Given the description of an element on the screen output the (x, y) to click on. 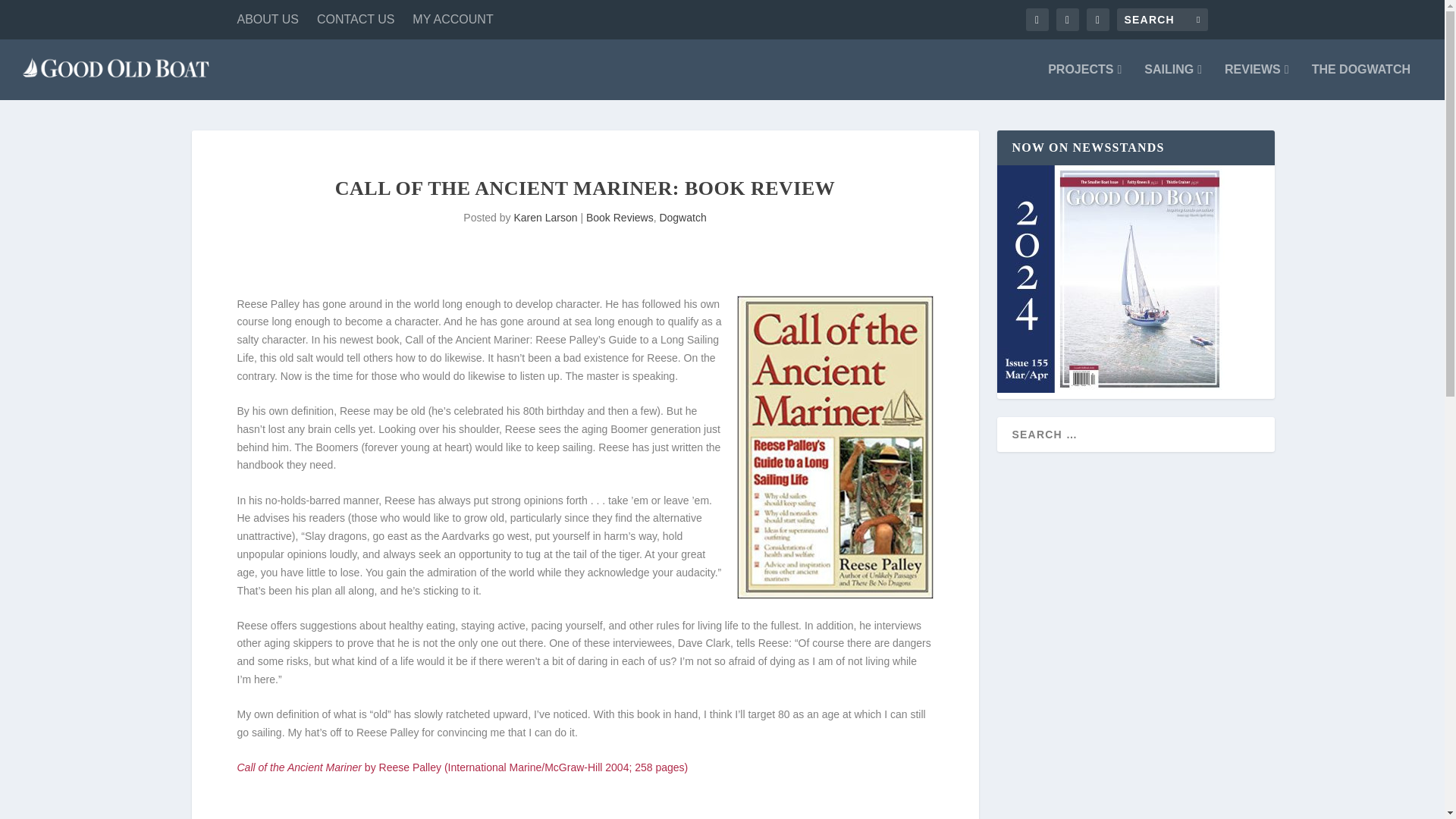
ABOUT US (266, 19)
PROJECTS (1084, 81)
CONTACT US (355, 19)
THE DOGWATCH (1360, 81)
SAILING (1173, 81)
REVIEWS (1256, 81)
MY ACCOUNT (452, 19)
Posts by Karen Larson (544, 217)
Search for: (1161, 19)
